Given the description of an element on the screen output the (x, y) to click on. 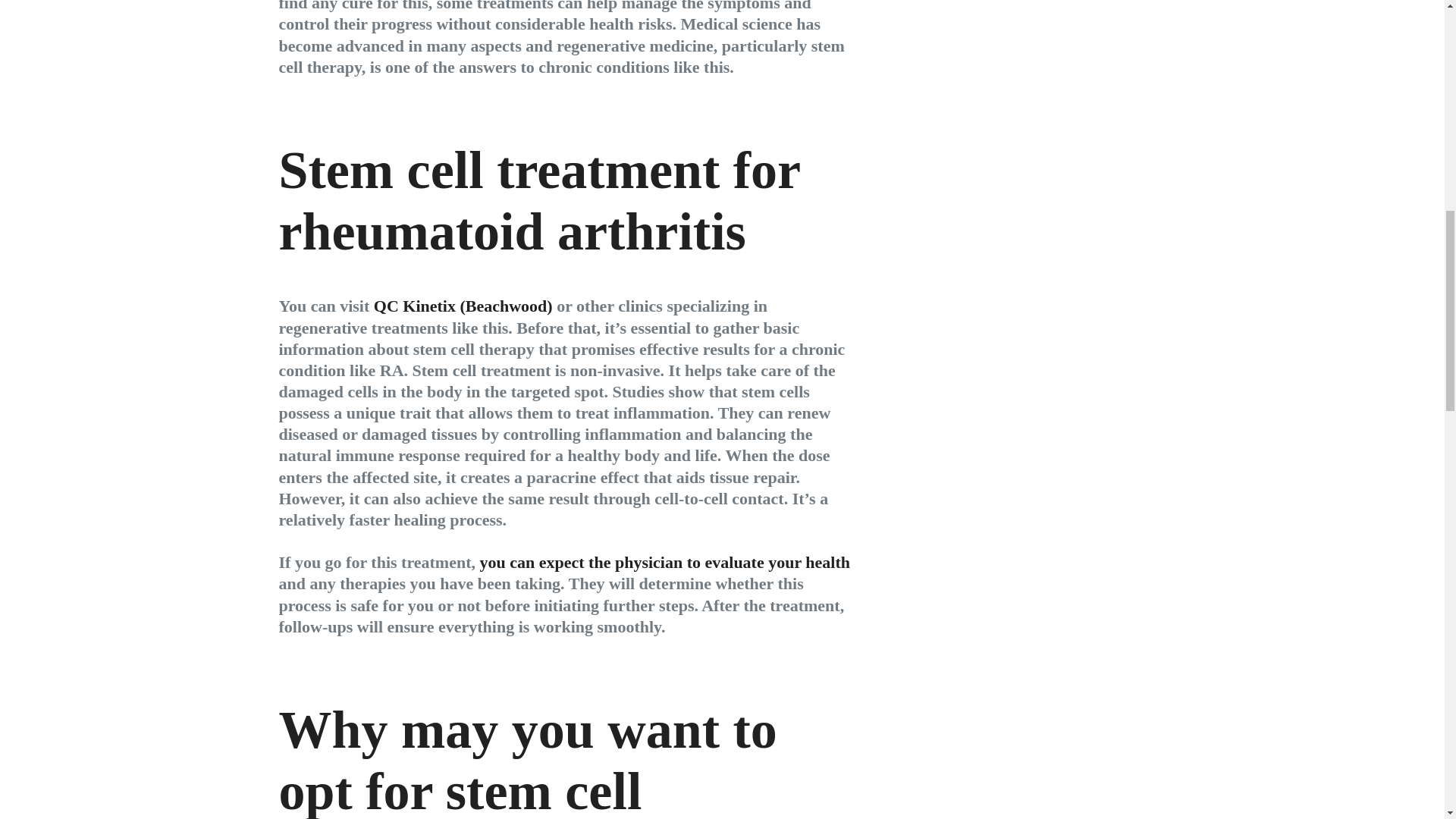
you can expect the physician to evaluate your health (663, 561)
